Given the description of an element on the screen output the (x, y) to click on. 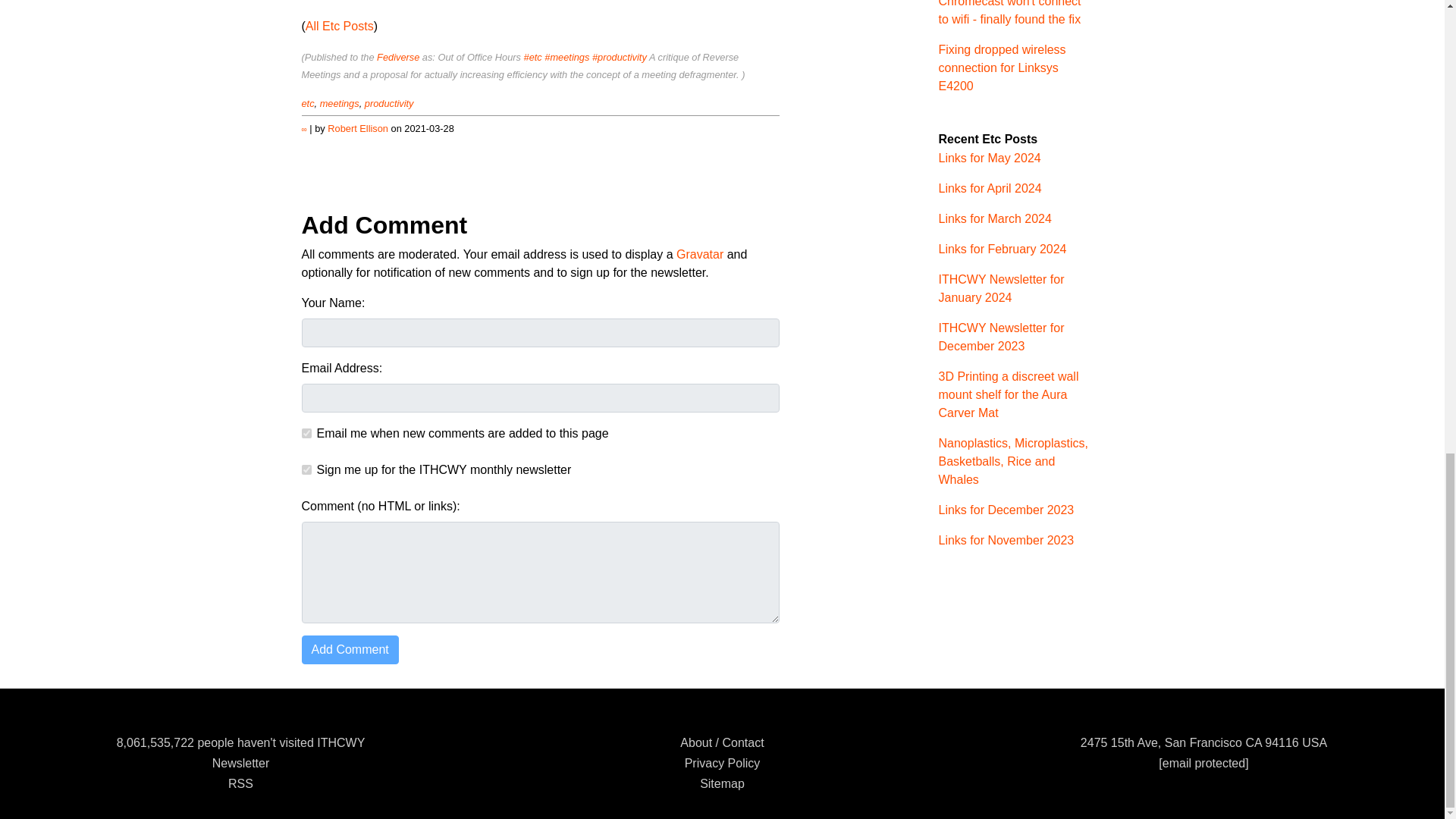
true (306, 470)
Permalink (304, 129)
Subscribe to ITHCWY via RSS (240, 783)
true (306, 433)
